Given the description of an element on the screen output the (x, y) to click on. 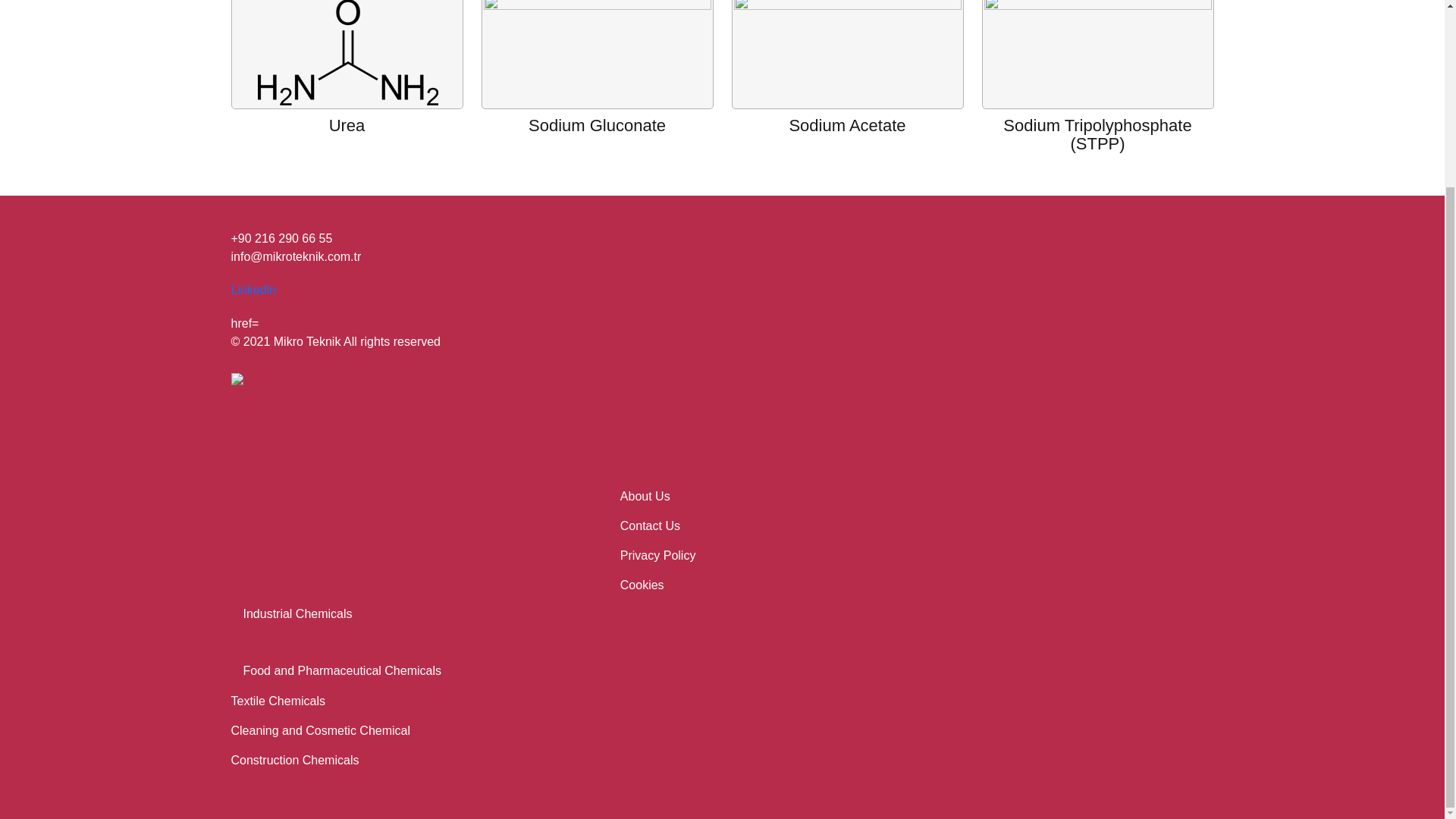
Sodium Gluconate (597, 50)
Cookies (641, 584)
Privacy Policy (657, 554)
Sodium Acetate (277, 700)
Industrial Chemicals (846, 50)
Urea (297, 613)
Linkedln (347, 125)
About Us (253, 289)
Food and Pharmaceutical Chemicals (644, 495)
Industrial Chemicals (342, 670)
Construction Chemicals (297, 613)
Cleaning and Cosmetic Chemical (294, 759)
Textile Chemicals (320, 730)
Urea (277, 700)
